Given the description of an element on the screen output the (x, y) to click on. 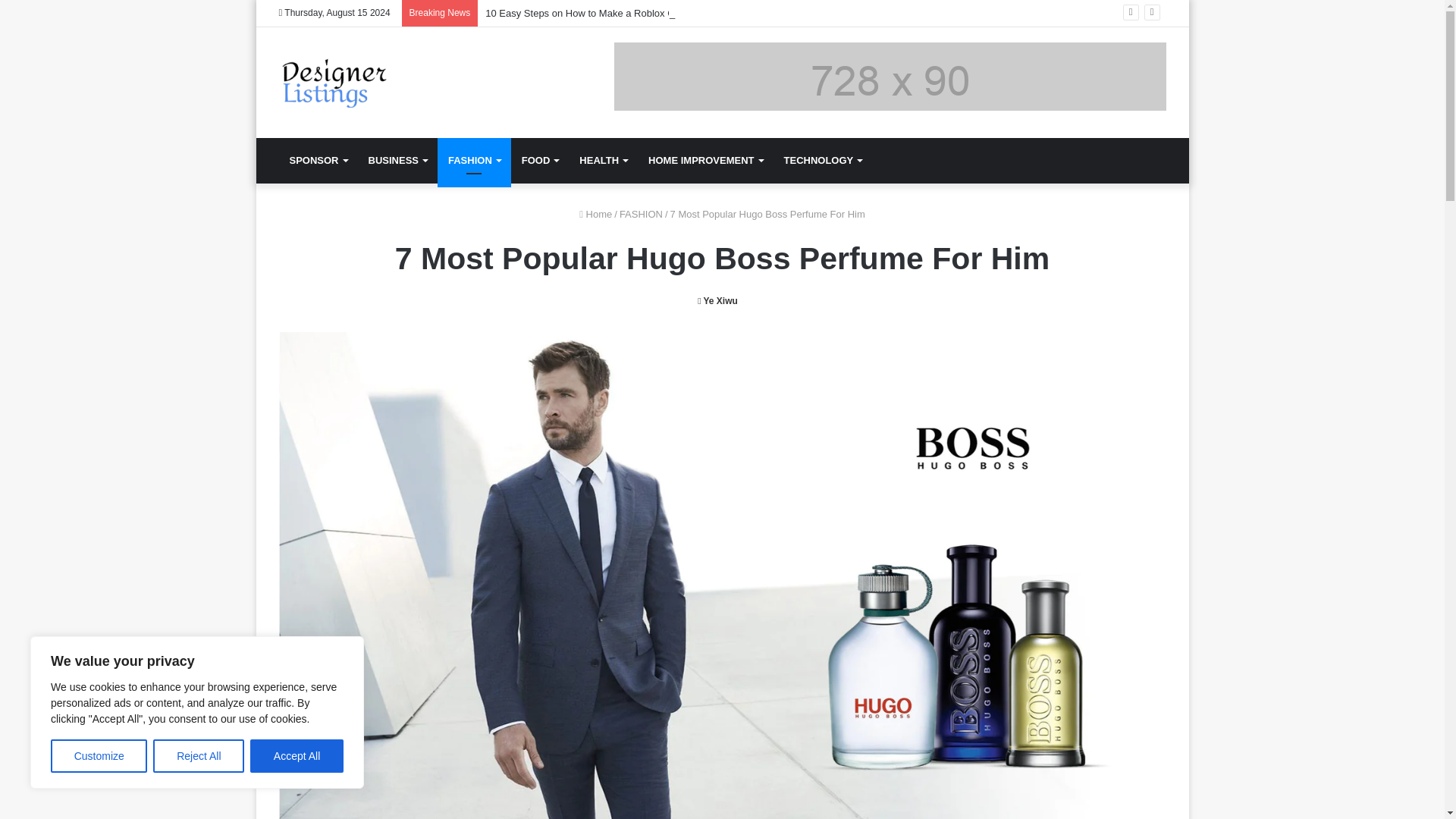
10 Easy Steps on How to Make a Roblox Game (589, 12)
Designer Listings (335, 82)
BUSINESS (398, 160)
FASHION (641, 214)
Ye Xiwu (717, 300)
FASHION (474, 160)
HEALTH (603, 160)
Accept All (296, 756)
Customize (98, 756)
FOOD (540, 160)
